Given the description of an element on the screen output the (x, y) to click on. 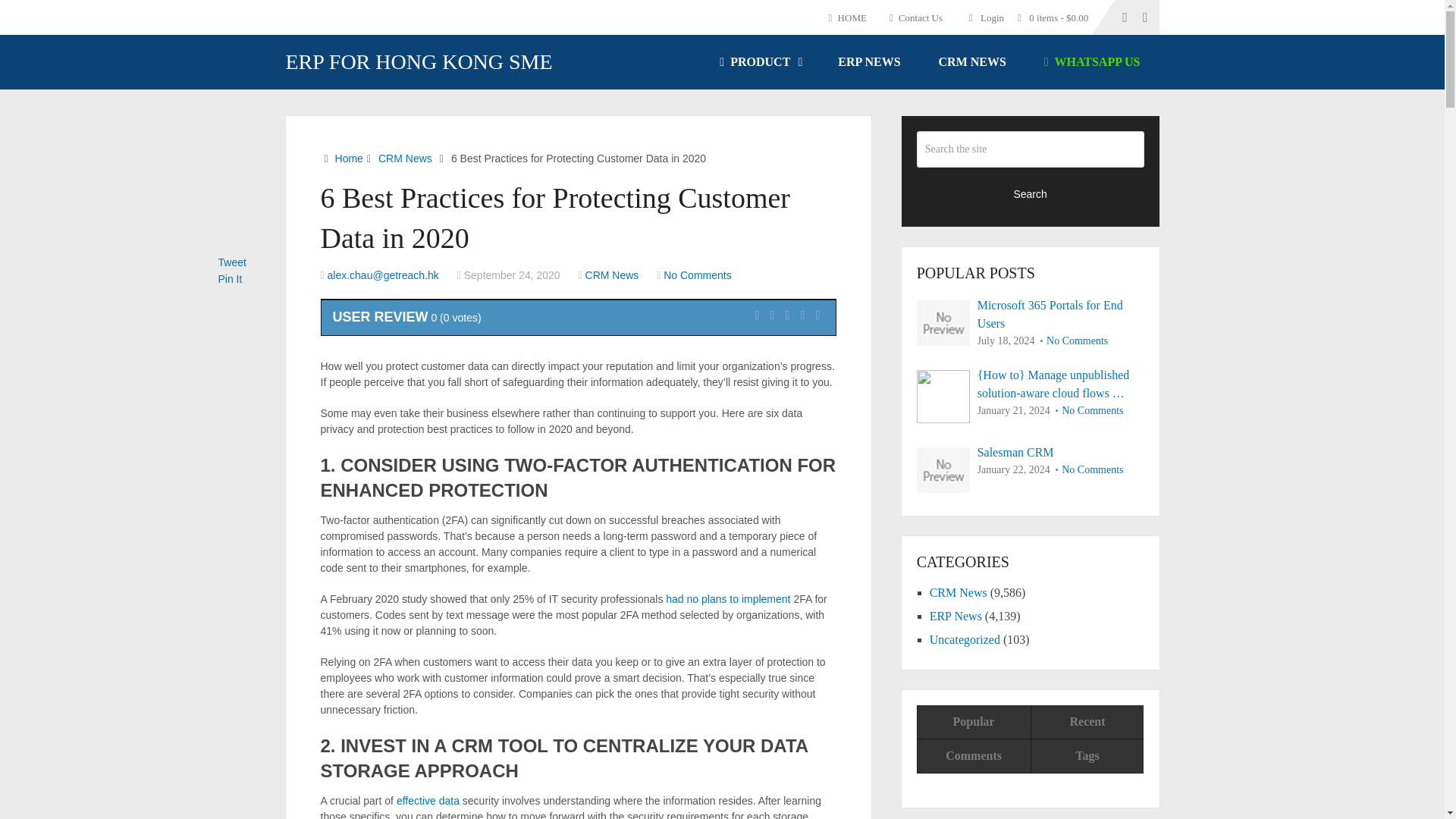
No Comments (696, 275)
WHATSAPP US (1091, 62)
PRODUCT (759, 62)
ERP NEWS (868, 62)
Search (1030, 193)
effective data (428, 800)
Pin It (230, 278)
View your shopping cart (1056, 17)
CRM NEWS (972, 62)
Microsoft 365 Portals for End Users (1030, 314)
CRM News (405, 158)
Home (348, 158)
Tweet (232, 262)
CRM News (612, 275)
ERP FOR HONG KONG SME (418, 61)
